Given the description of an element on the screen output the (x, y) to click on. 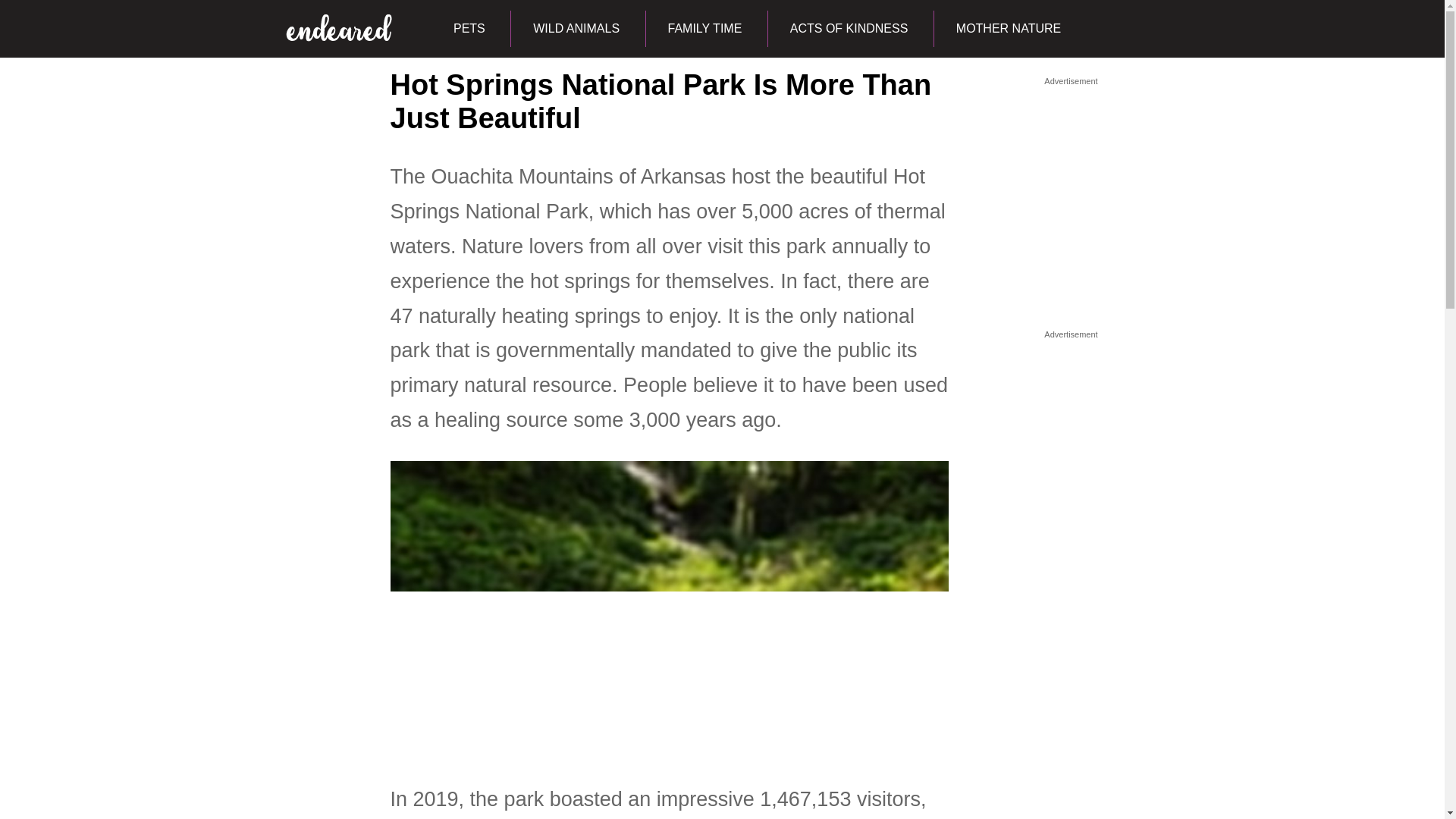
FAMILY TIME (704, 28)
WILD ANIMALS (576, 28)
PETS (468, 28)
ACTS OF KINDNESS (848, 28)
MOTHER NATURE (1008, 28)
